Given the description of an element on the screen output the (x, y) to click on. 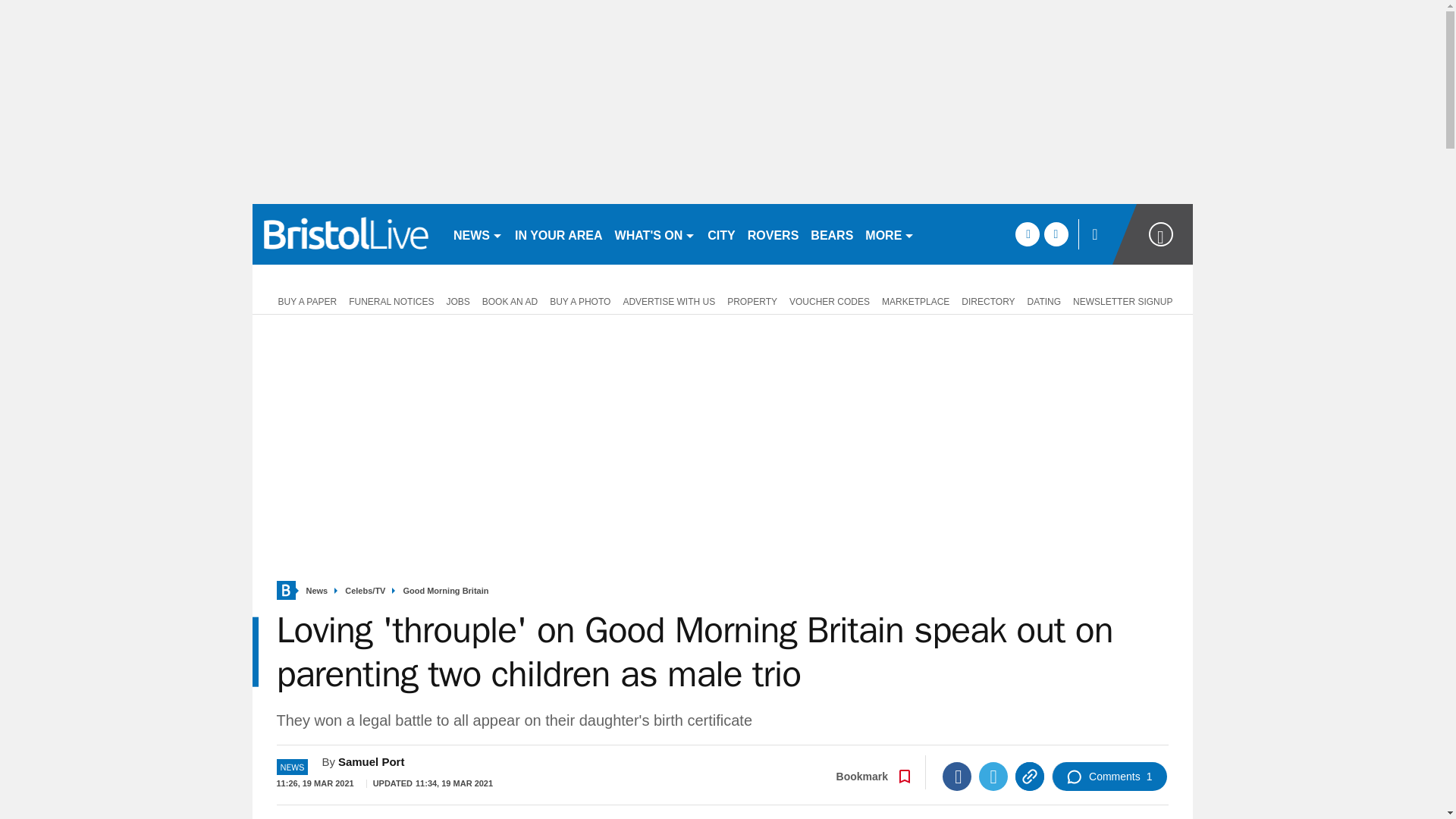
BEARS (832, 233)
Twitter (992, 776)
bristolpost (345, 233)
Facebook (956, 776)
facebook (1026, 233)
ROVERS (773, 233)
Comments (1108, 776)
MORE (889, 233)
WHAT'S ON (654, 233)
NEWS (477, 233)
